Given the description of an element on the screen output the (x, y) to click on. 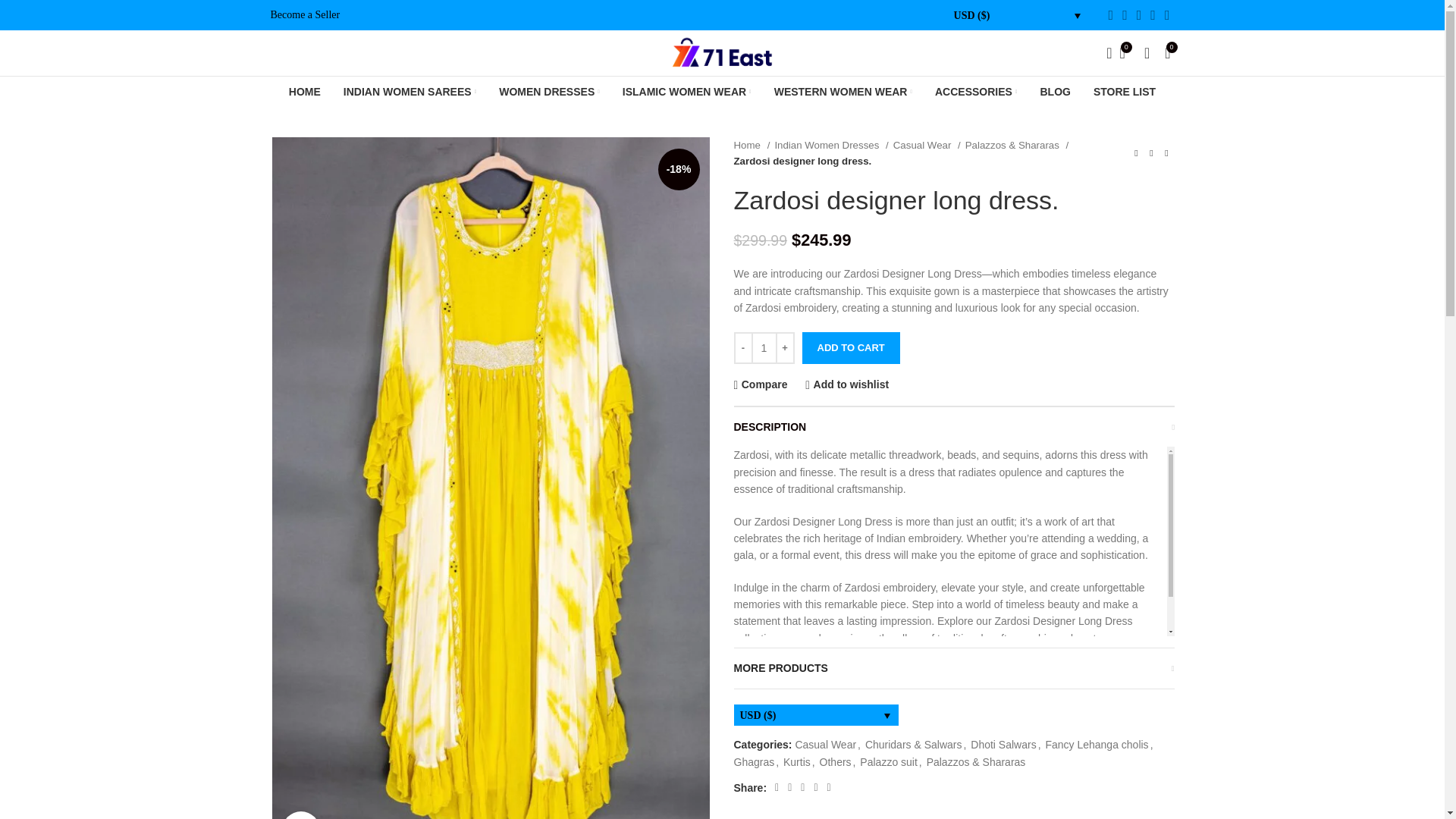
INDIAN WOMEN SAREES (409, 91)
HOME (304, 91)
Log in (1024, 294)
Become a Seller (304, 14)
